Given the description of an element on the screen output the (x, y) to click on. 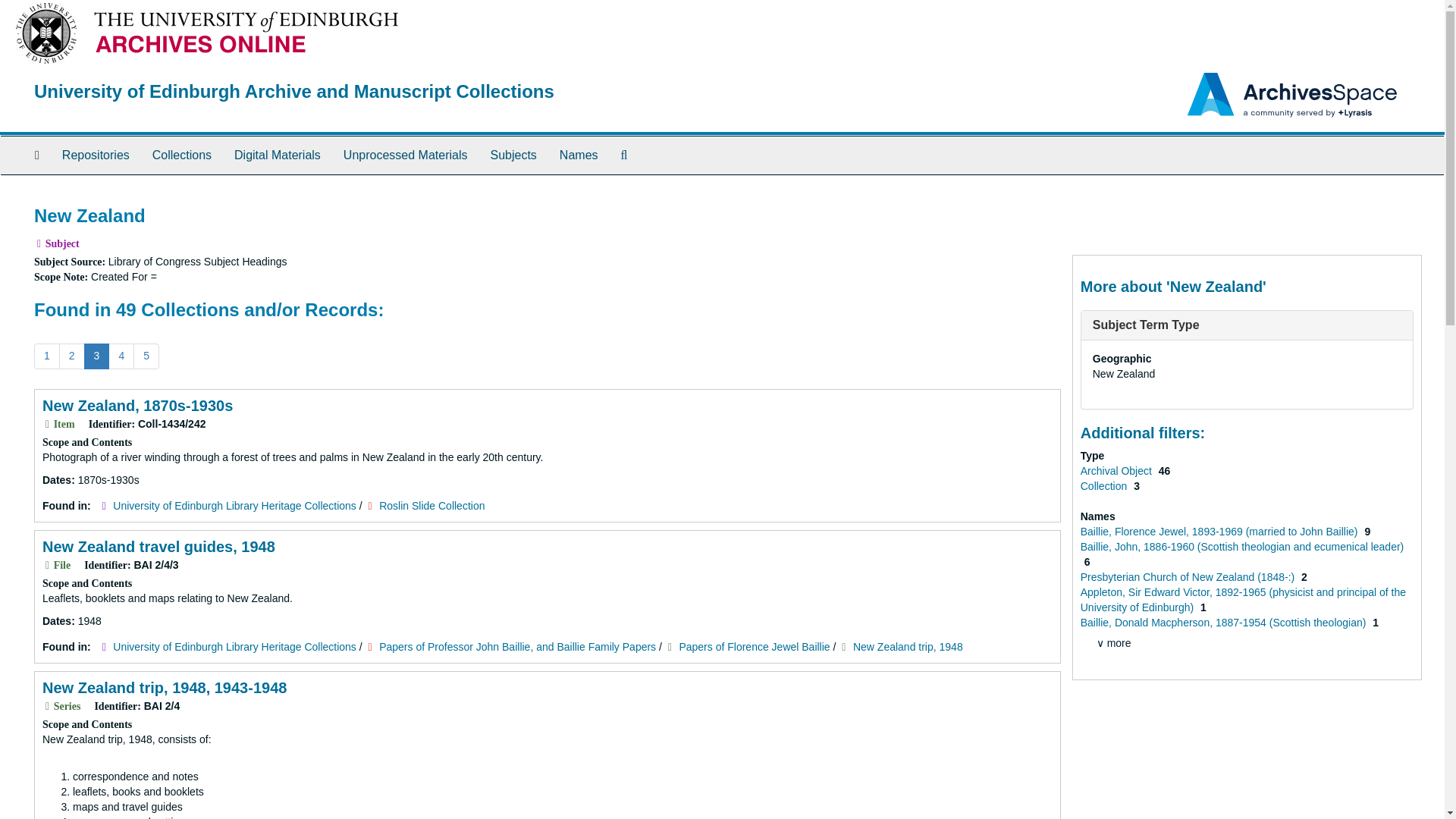
Archives Space at Edinburgh (293, 91)
Filter By 'Archival Object' (1117, 470)
Archives Space at Edinburgh (252, 32)
Unprocessed Materials (405, 155)
University of Edinburgh Website (45, 32)
Subjects (513, 155)
1 (46, 356)
Papers of Florence Jewel Baillie (753, 646)
University of Edinburgh Library Heritage Collections (234, 646)
Roslin Slide Collection (431, 505)
2 (71, 356)
New Zealand, 1870s-1930s (137, 405)
University of Edinburgh Archive and Manuscript Collections (293, 91)
Names (579, 155)
New Zealand trip, 1948 (907, 646)
